Given the description of an element on the screen output the (x, y) to click on. 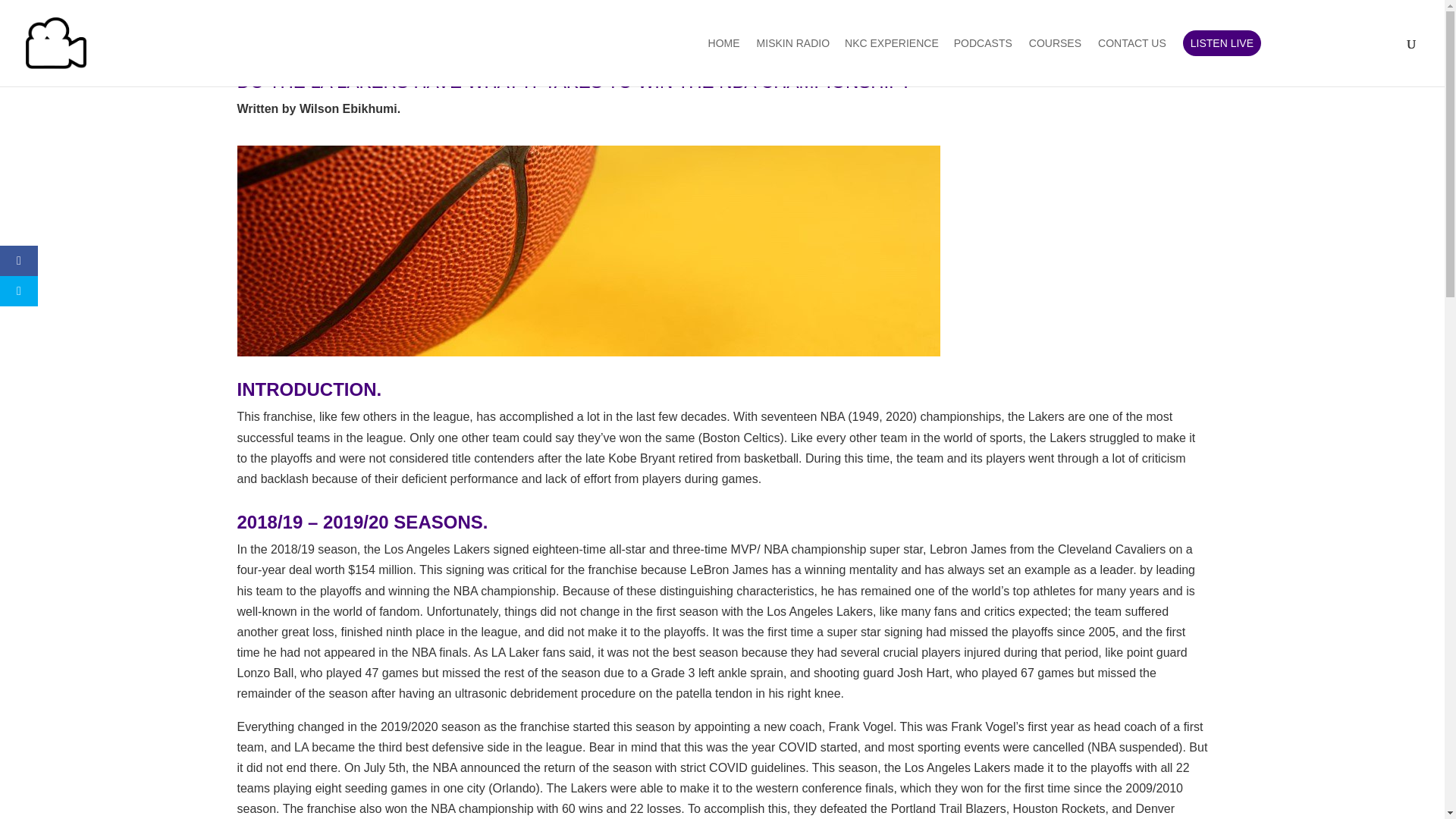
CONTACT US (1131, 61)
COURSES (1055, 61)
LISTEN LIVE (1221, 43)
PODCASTS (982, 61)
MISKIN RADIO (800, 61)
NKC EXPERIENCE (898, 61)
